Given the description of an element on the screen output the (x, y) to click on. 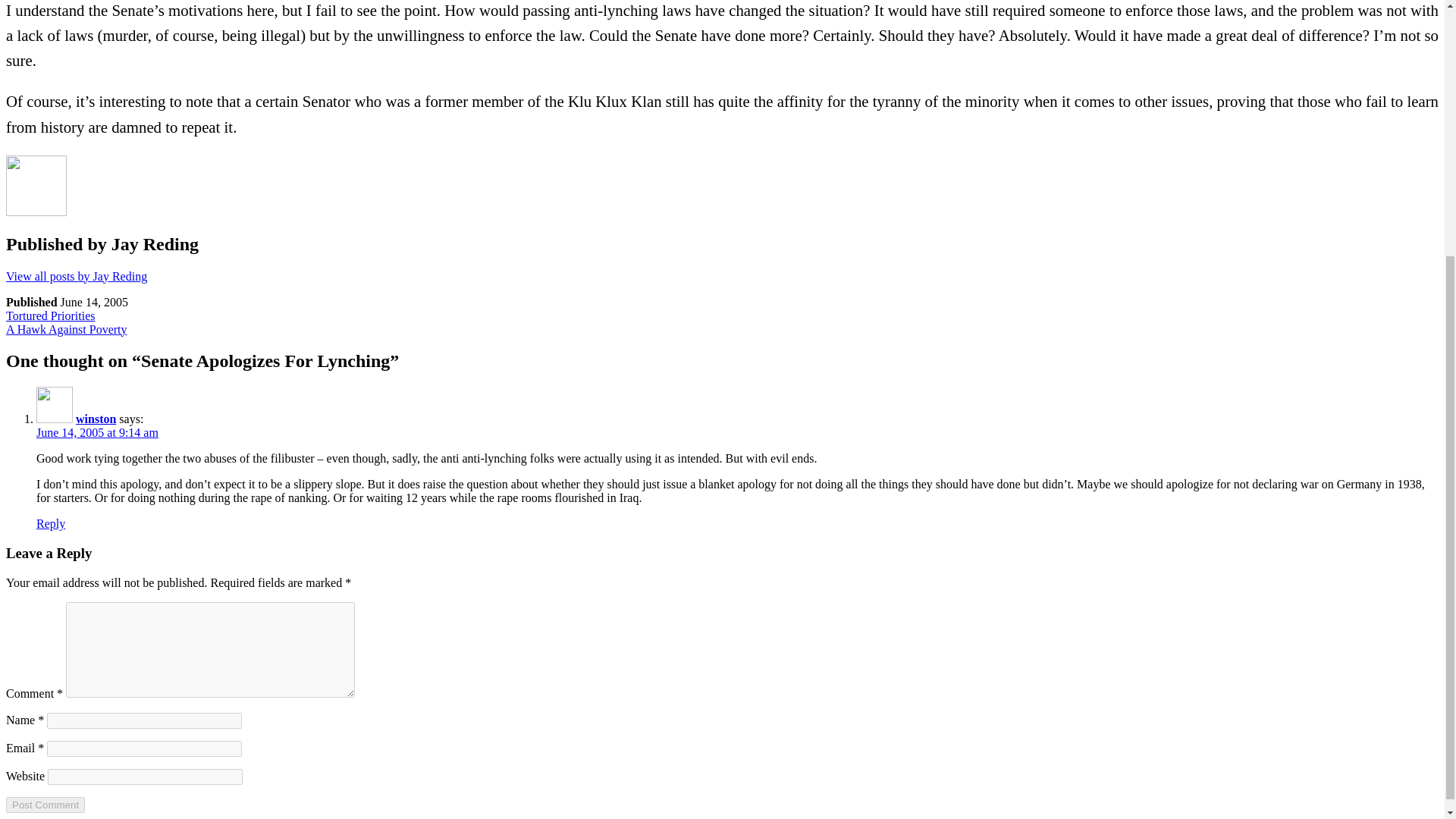
Post Comment (44, 804)
winston (50, 315)
View all posts by Jay Reding (95, 418)
Reply (76, 276)
Post Comment (50, 522)
June 14, 2005 at 9:14 am (44, 804)
